Given the description of an element on the screen output the (x, y) to click on. 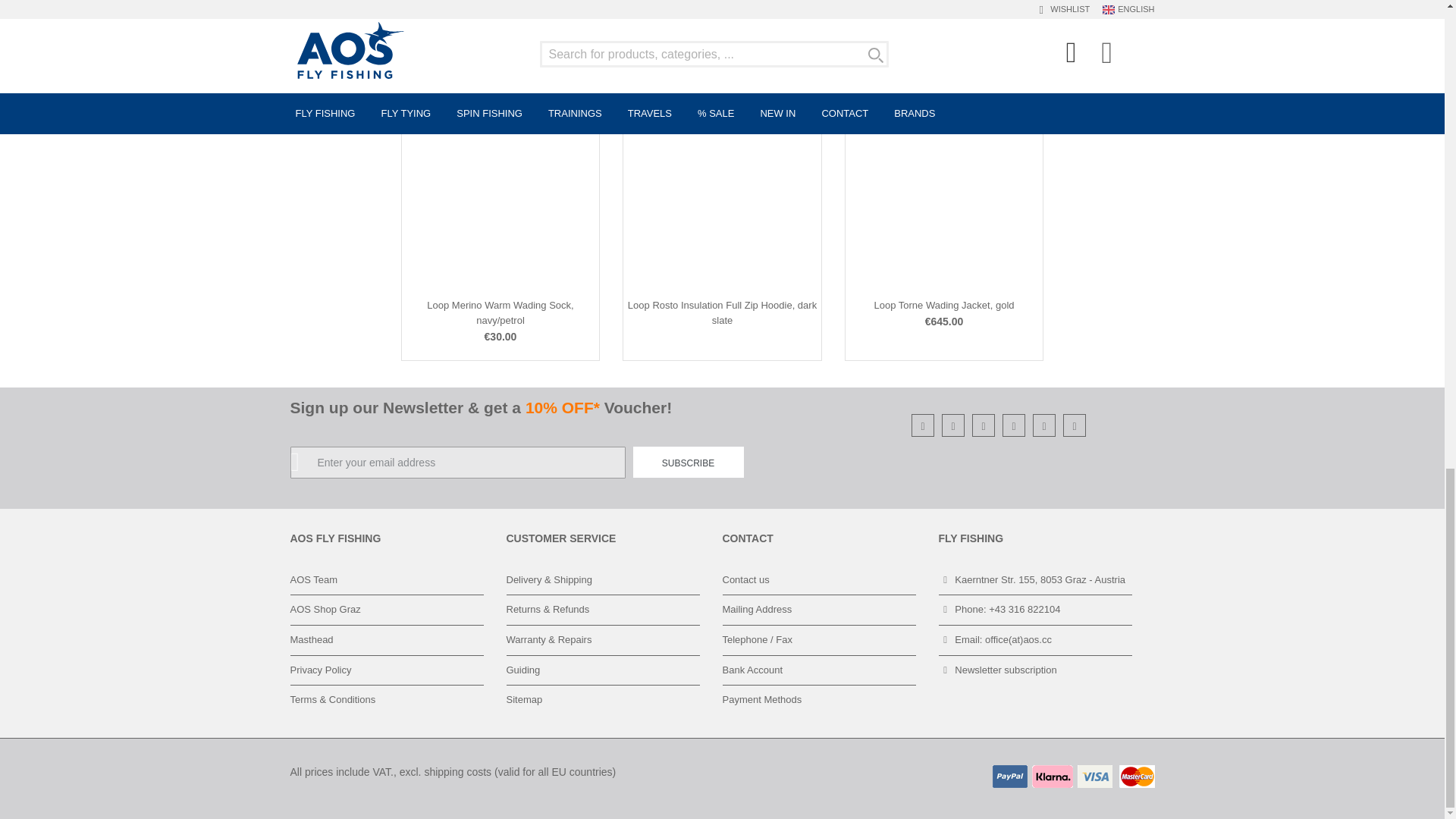
Privacy (319, 669)
PINTEREST (1044, 426)
AOS Fly Fishing Team (313, 579)
INSTAGRAM (923, 426)
VIMEO (1075, 426)
AOS Fly Fishing Store (324, 609)
TWITTER (1014, 426)
Masthead (311, 639)
Loop Rosto Insulation Full Zip Hoodie, dark slate (721, 312)
YOUTUBE (983, 426)
